Given the description of an element on the screen output the (x, y) to click on. 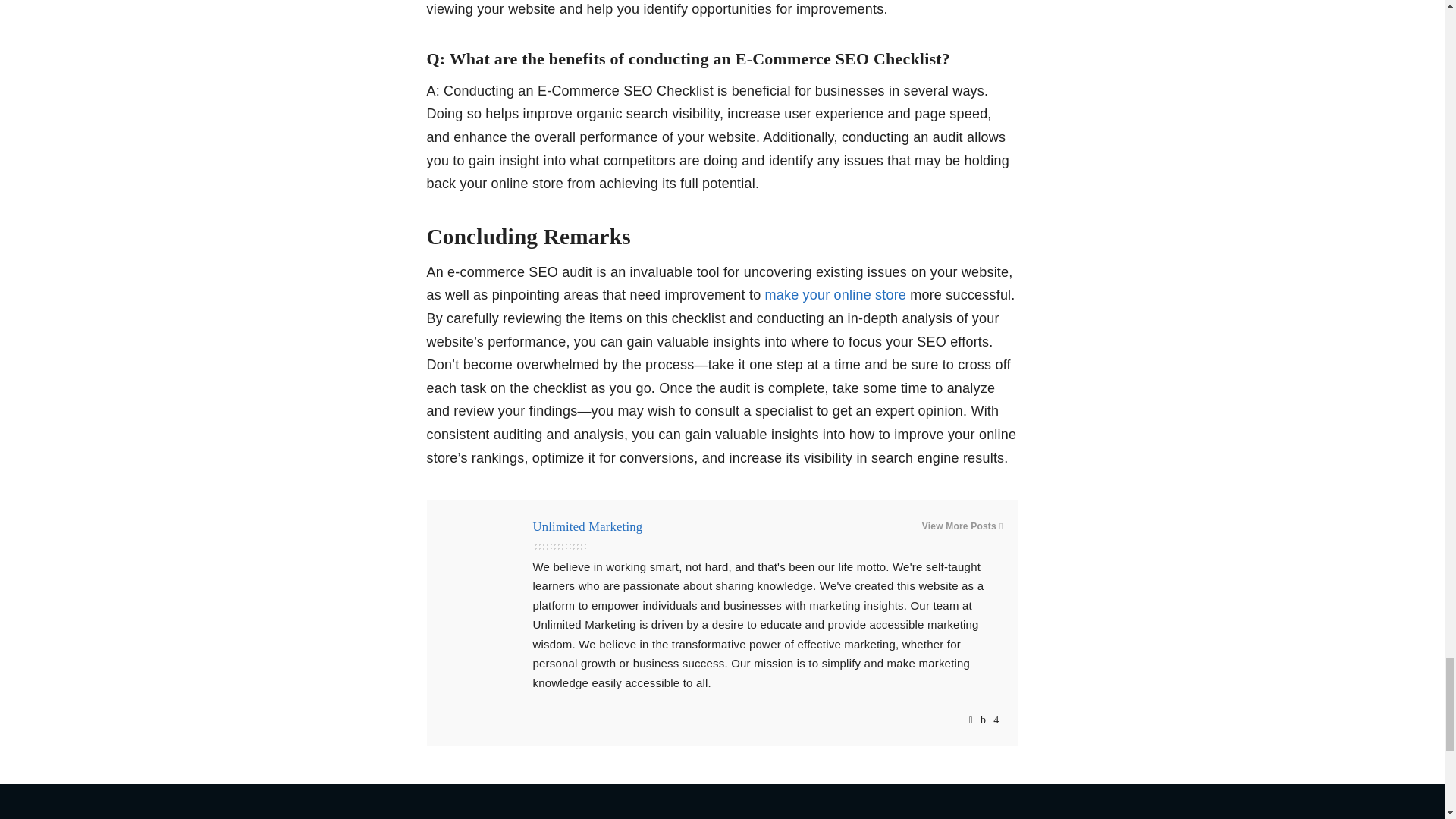
make your online store (838, 294)
Unlimited Marketing (587, 526)
View More Posts (962, 525)
